Given the description of an element on the screen output the (x, y) to click on. 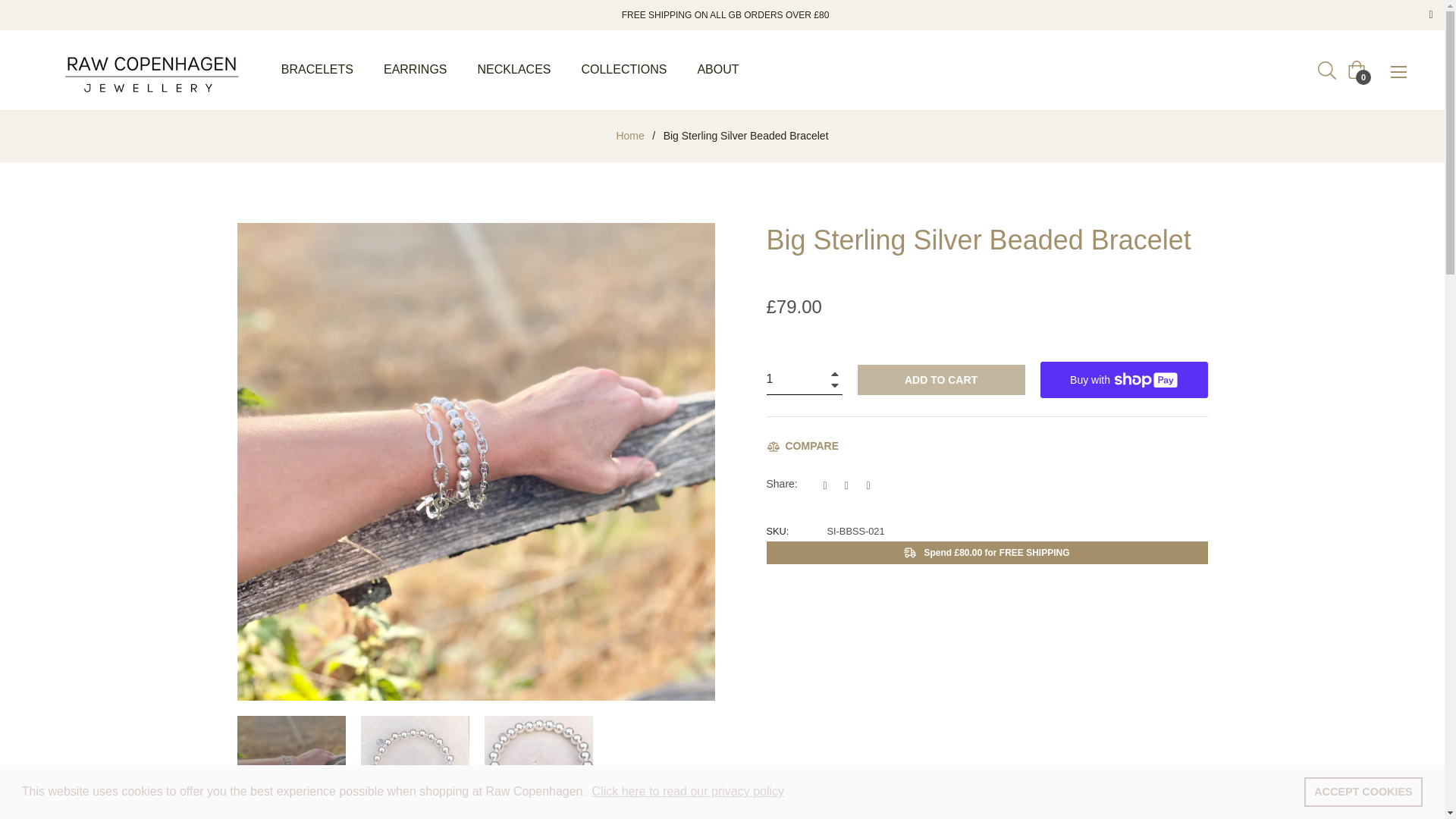
BRACELETS (317, 69)
1 (803, 379)
Shopping Cart (1356, 69)
ACCEPT COOKIES (1363, 791)
Click here to read our privacy policy (687, 791)
Home (629, 135)
COLLECTIONS (623, 69)
NECKLACES (514, 69)
ABOUT (717, 69)
EARRINGS (415, 69)
